Given the description of an element on the screen output the (x, y) to click on. 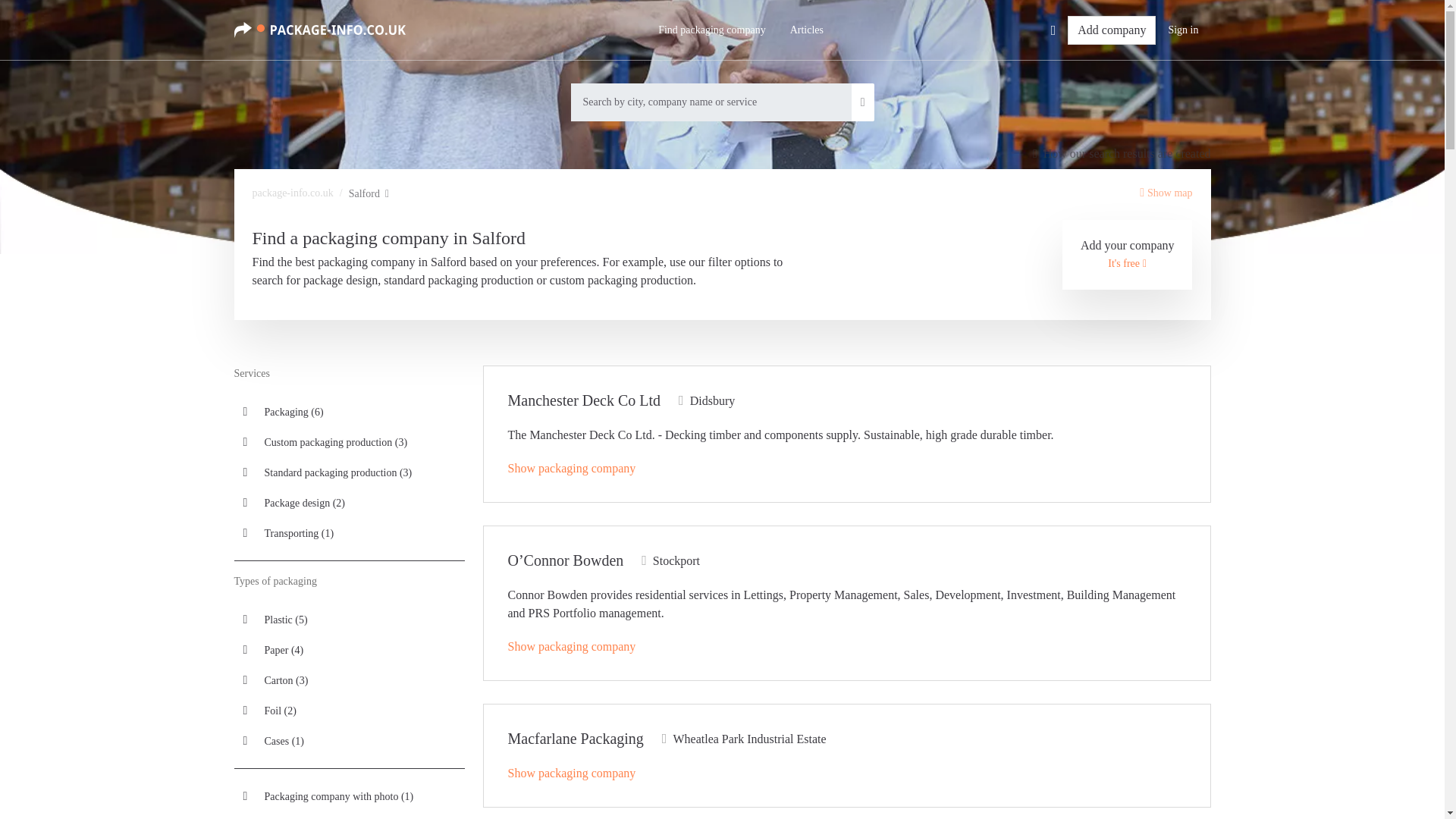
Find packaging company (711, 29)
Articles (806, 29)
